Given the description of an element on the screen output the (x, y) to click on. 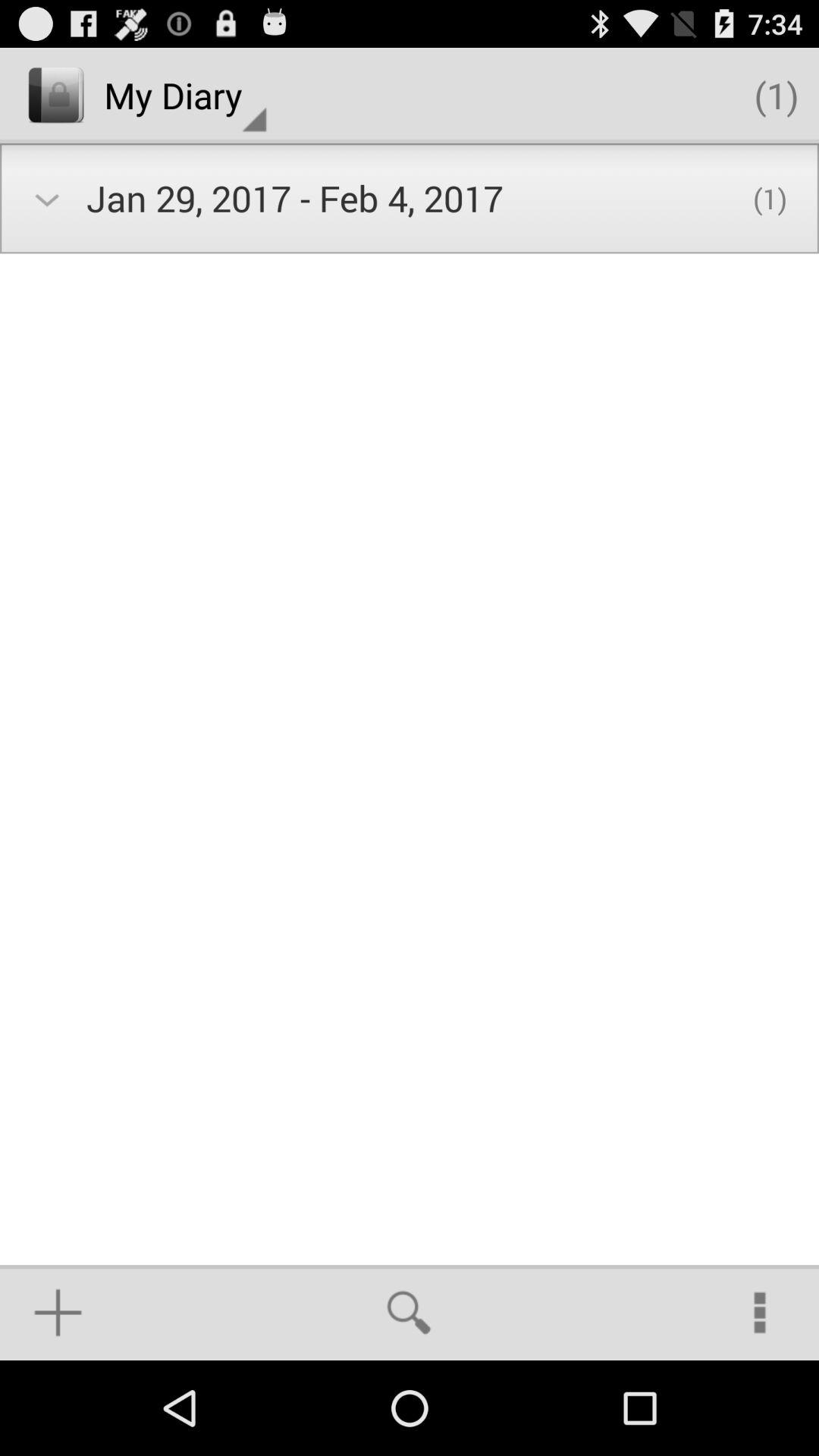
click the icon at the bottom right corner (759, 1312)
